Given the description of an element on the screen output the (x, y) to click on. 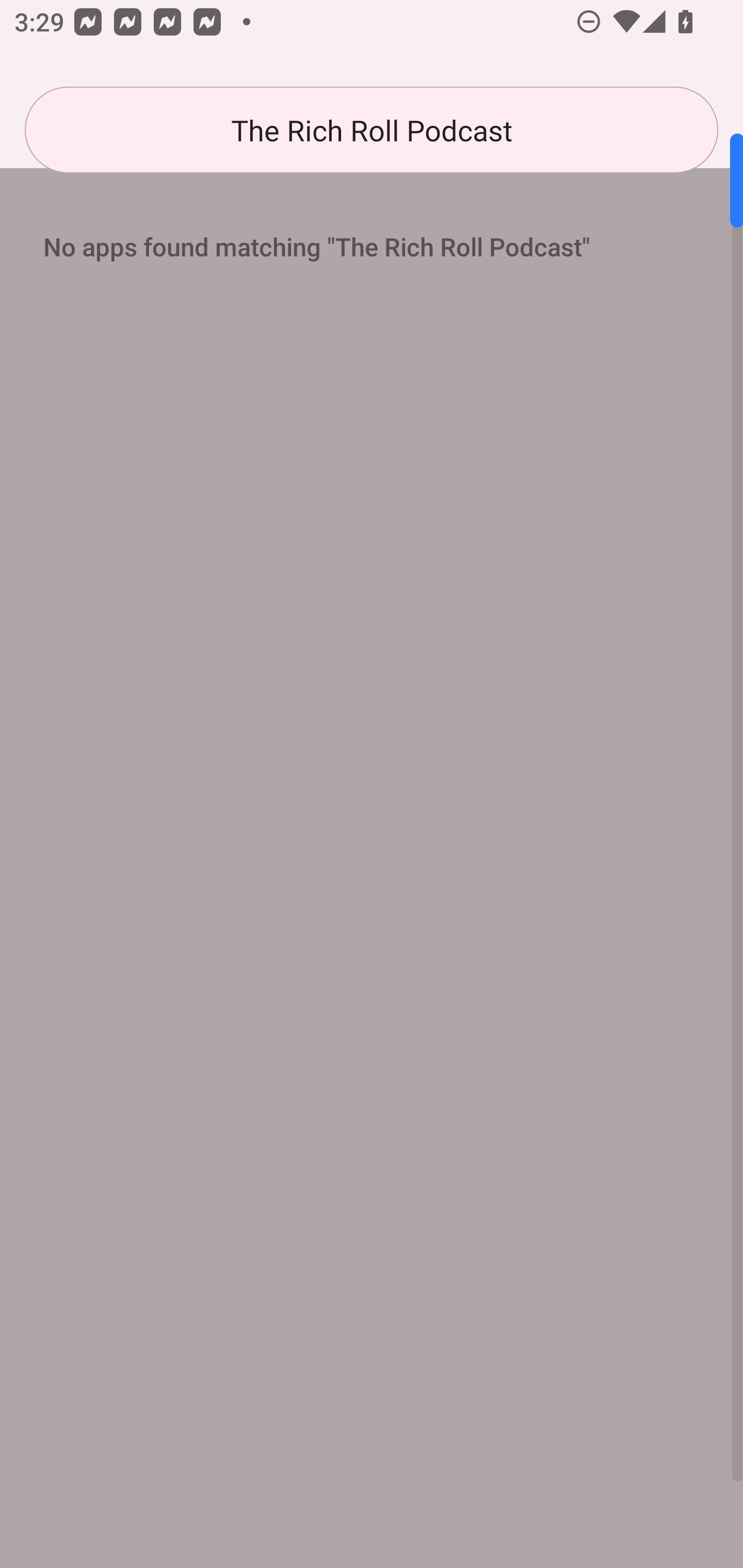
The Rich Roll Podcast (371, 130)
